Given the description of an element on the screen output the (x, y) to click on. 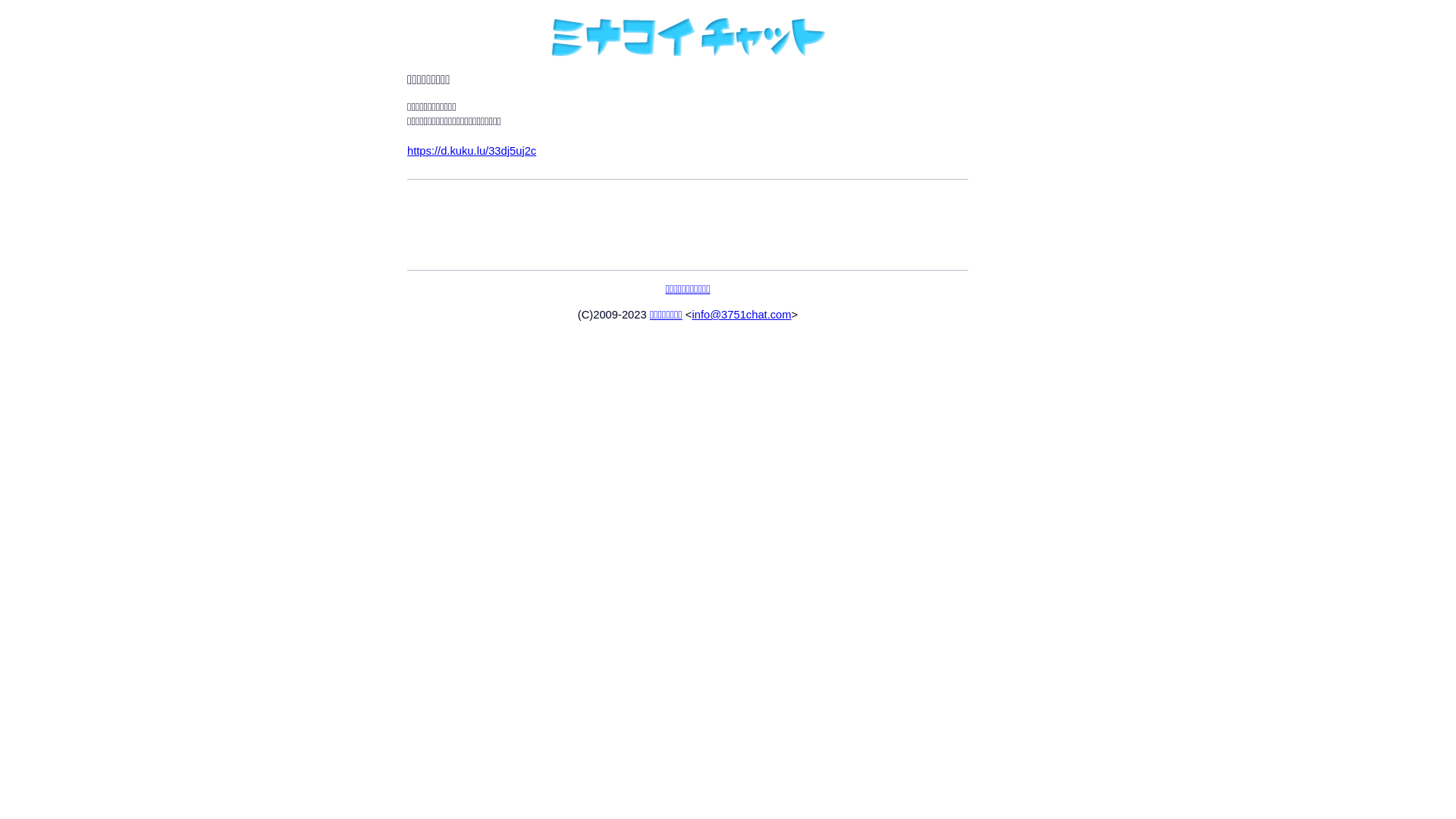
info@3751chat.com Element type: text (740, 314)
https://d.kuku.lu/33dj5uj2c Element type: text (471, 150)
